Given the description of an element on the screen output the (x, y) to click on. 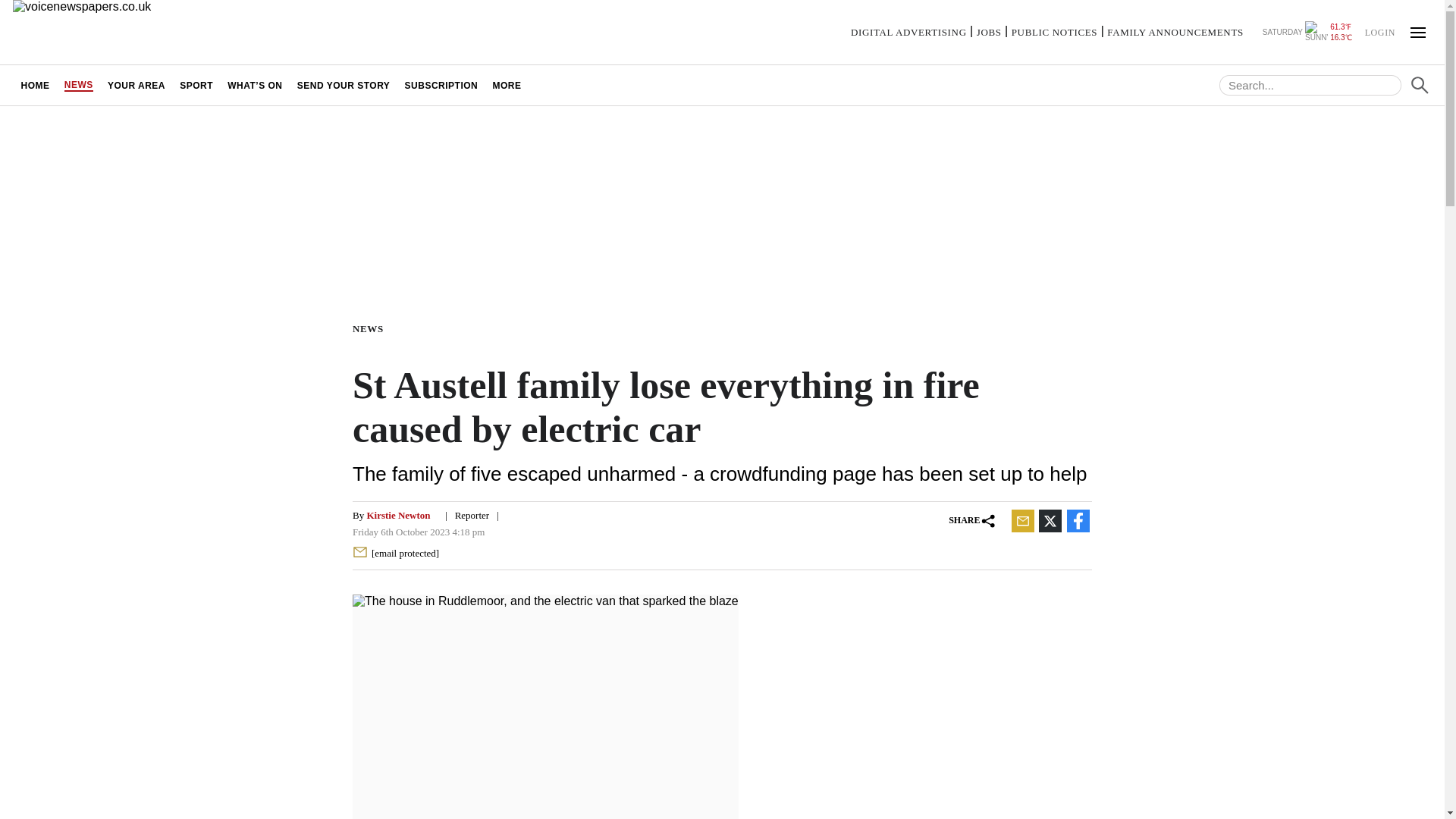
FAMILY ANNOUNCEMENTS (1174, 32)
YOUR AREA (135, 85)
SPORT (197, 85)
LOGIN (1379, 31)
Kirstie Newton (397, 514)
NEWS (78, 85)
NEWS (371, 328)
SUBSCRIPTION (440, 85)
HOME (34, 85)
MORE (506, 85)
